Given the description of an element on the screen output the (x, y) to click on. 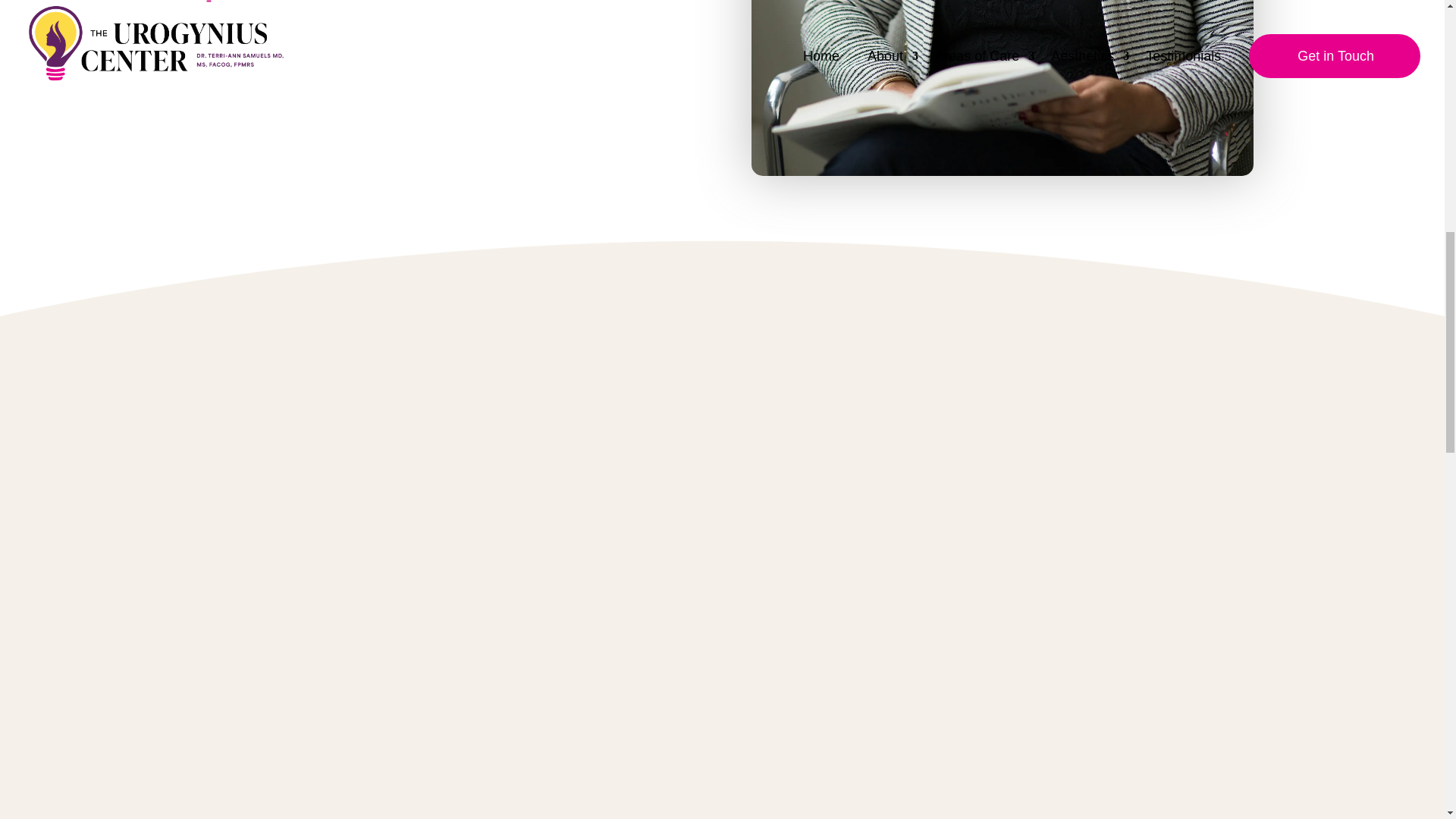
olderWomanReading (1002, 88)
